Given the description of an element on the screen output the (x, y) to click on. 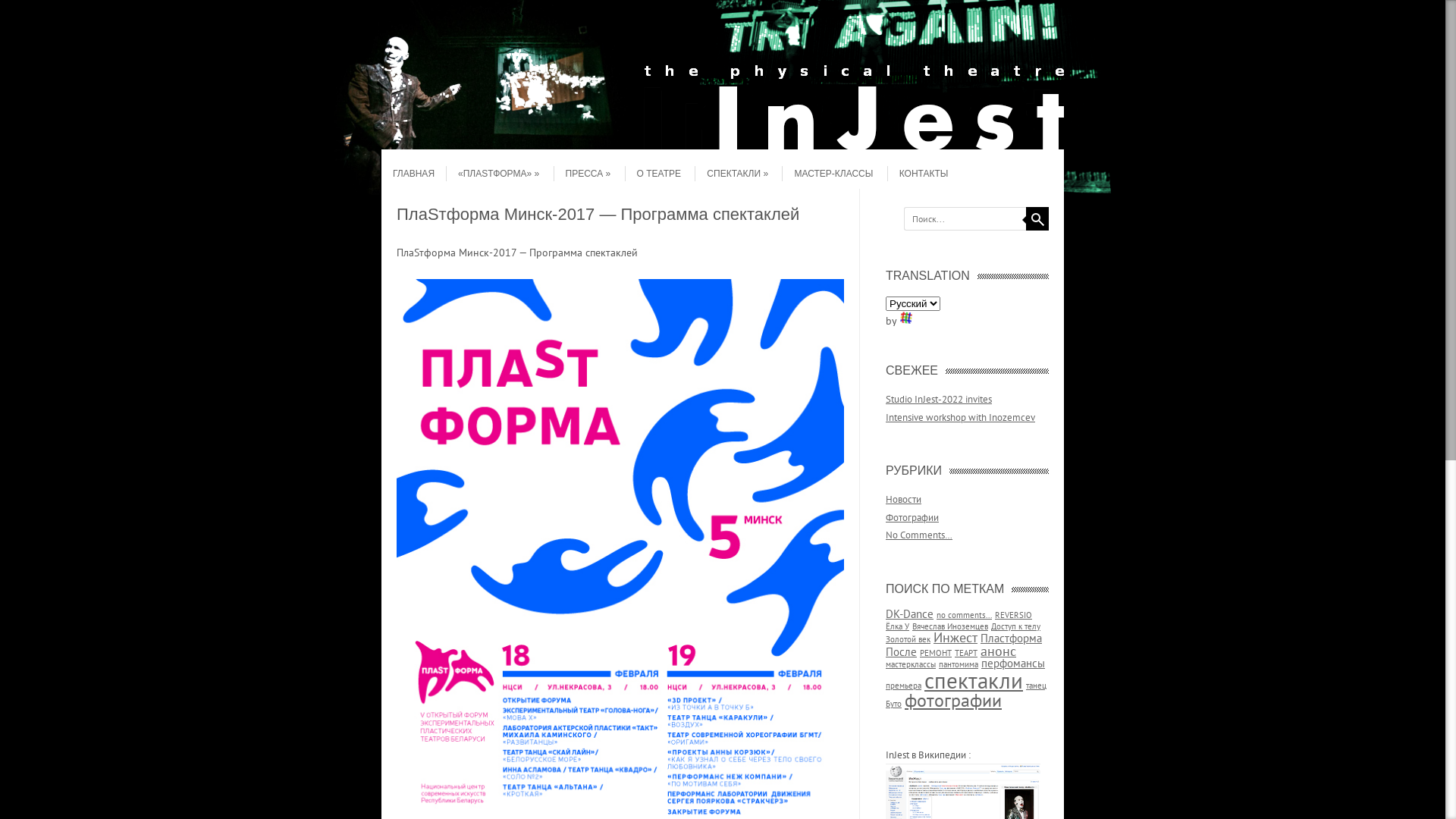
DK-Dance Element type: text (909, 613)
Studio InJest-2022 invites Element type: text (938, 398)
Search Element type: text (1037, 218)
REVERSIO Element type: text (1013, 614)
Intensive workshop with Inozemcev Element type: text (960, 417)
Transposh - translation plugin for wordpress Element type: hover (906, 317)
InJest Element type: hover (722, 145)
no comments... Element type: text (963, 614)
Skip to content Element type: text (411, 162)
